Given the description of an element on the screen output the (x, y) to click on. 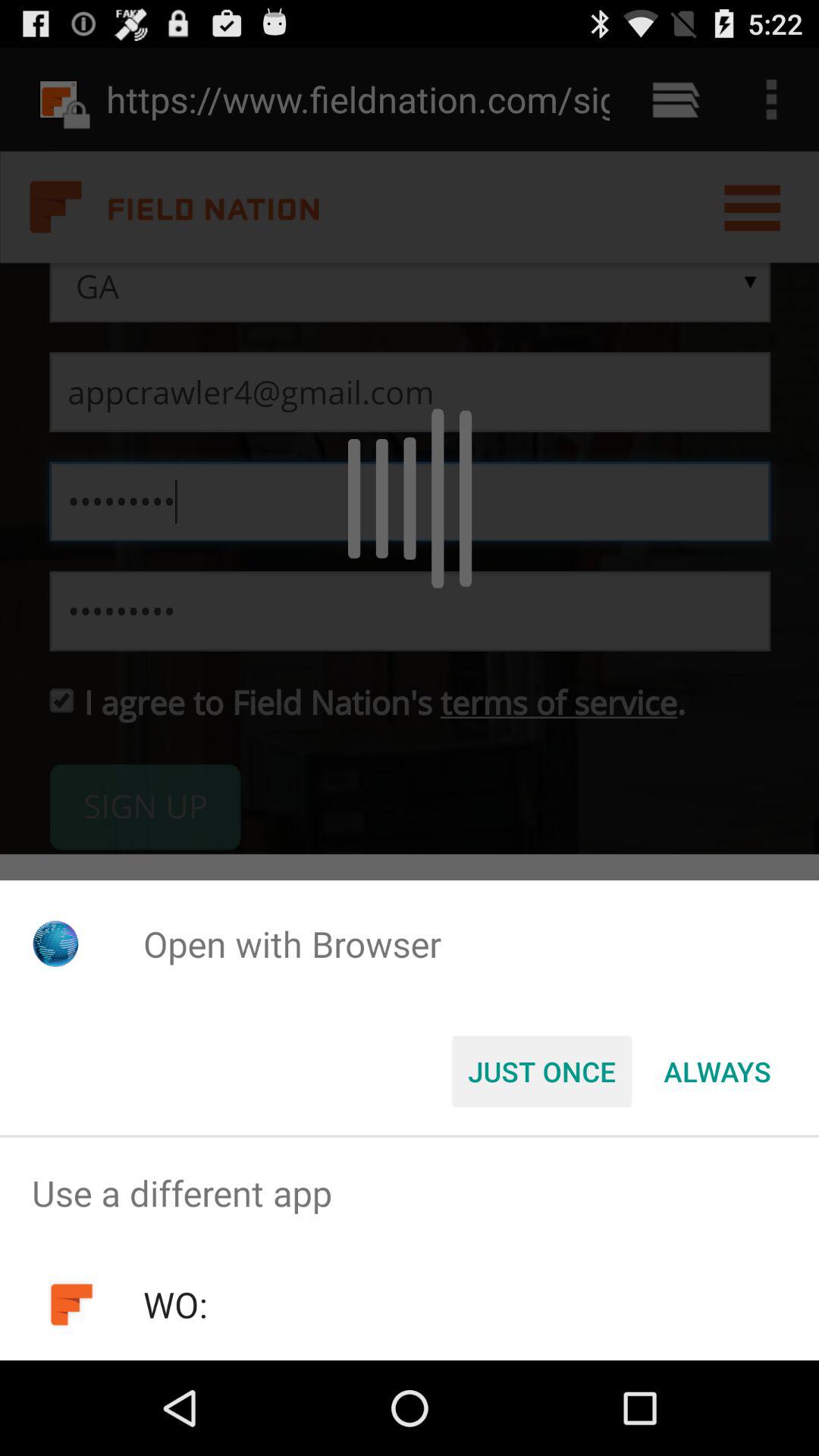
select item next to the just once button (717, 1071)
